Given the description of an element on the screen output the (x, y) to click on. 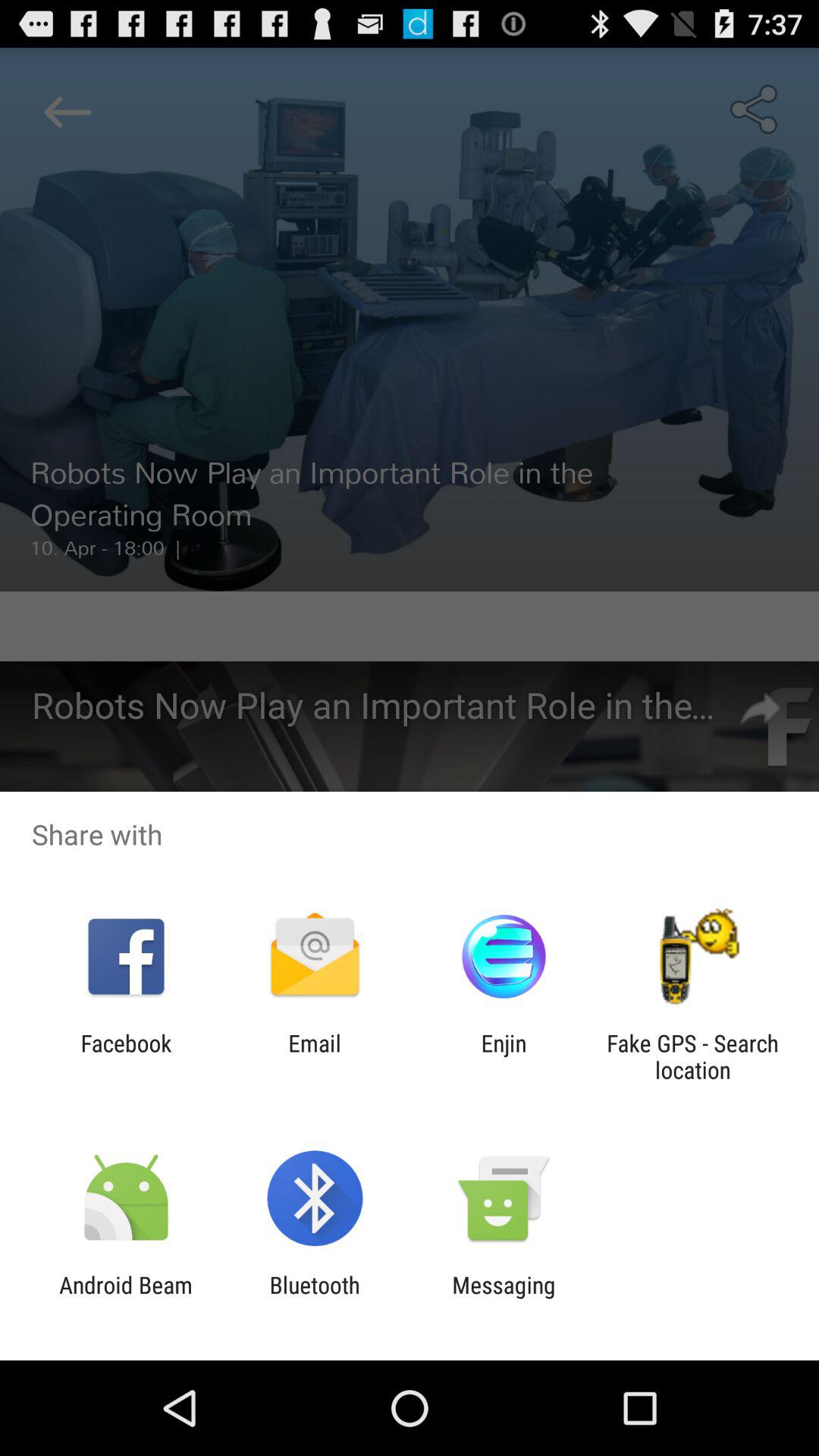
turn off the item next to the enjin (692, 1056)
